Given the description of an element on the screen output the (x, y) to click on. 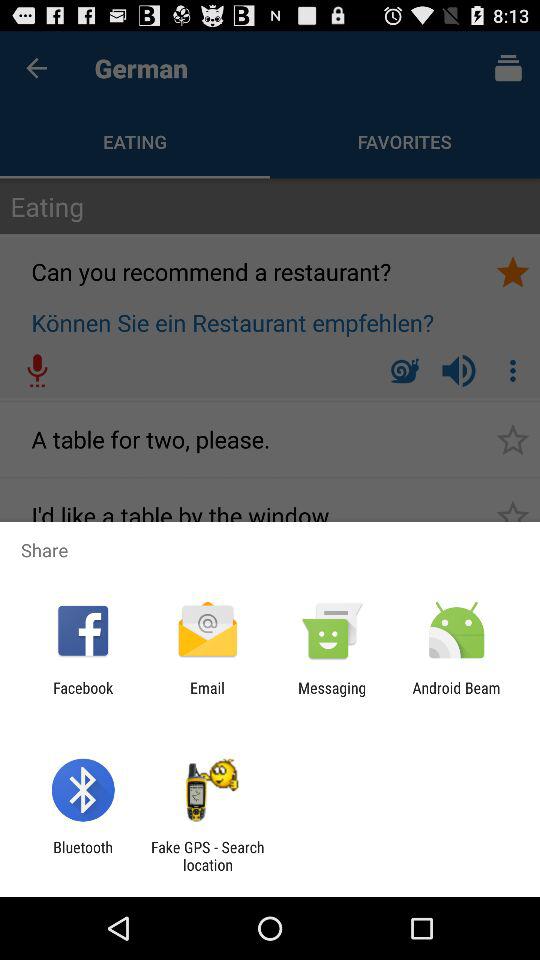
swipe until email item (207, 696)
